Given the description of an element on the screen output the (x, y) to click on. 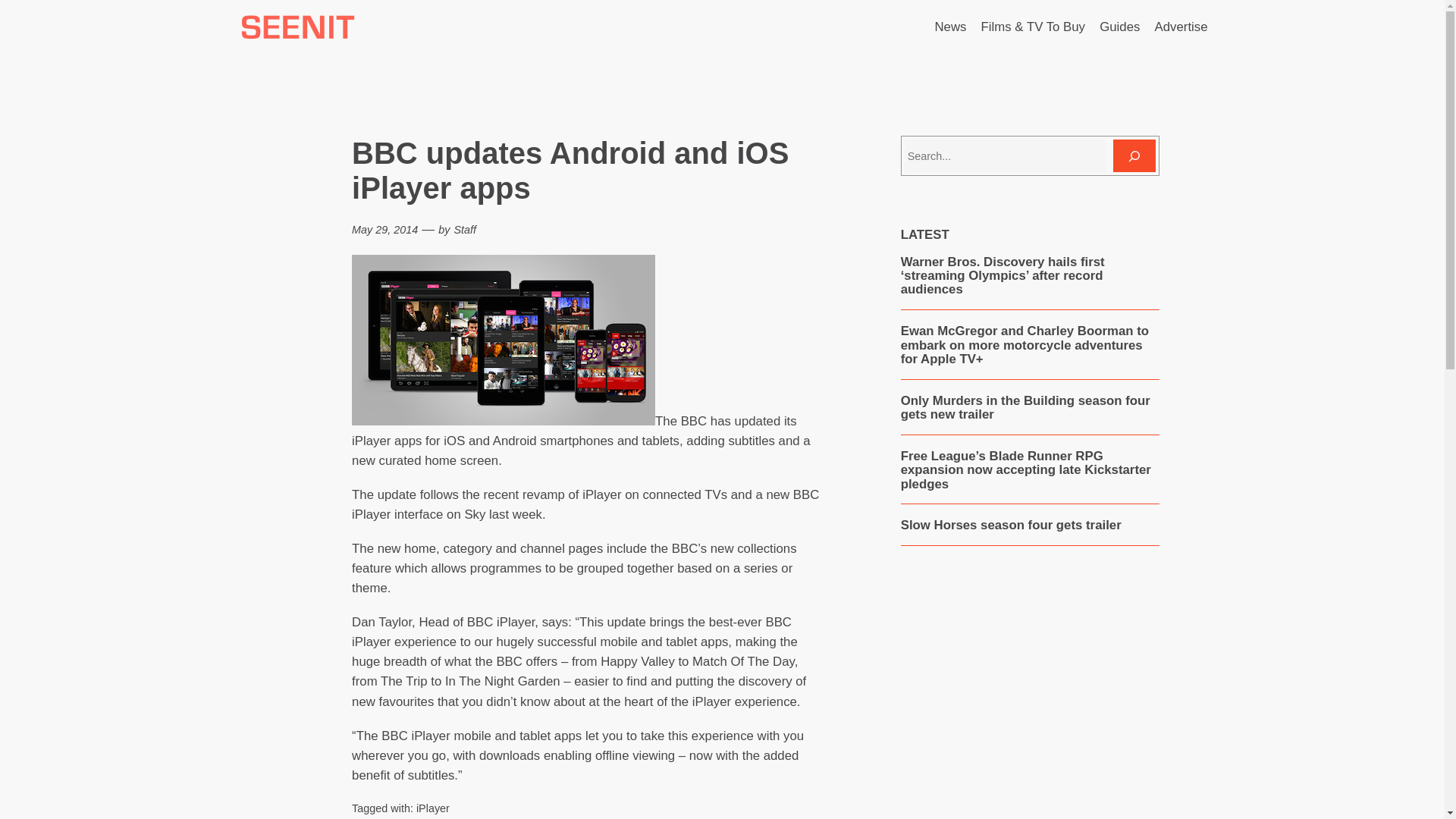
Guides (1119, 26)
Staff (464, 229)
Advertisement (1028, 699)
Slow Horses season four gets trailer (1011, 525)
Advertise (1181, 26)
iPlayer (432, 808)
Only Murders in the Building season four gets new trailer (1029, 407)
News (950, 26)
